Given the description of an element on the screen output the (x, y) to click on. 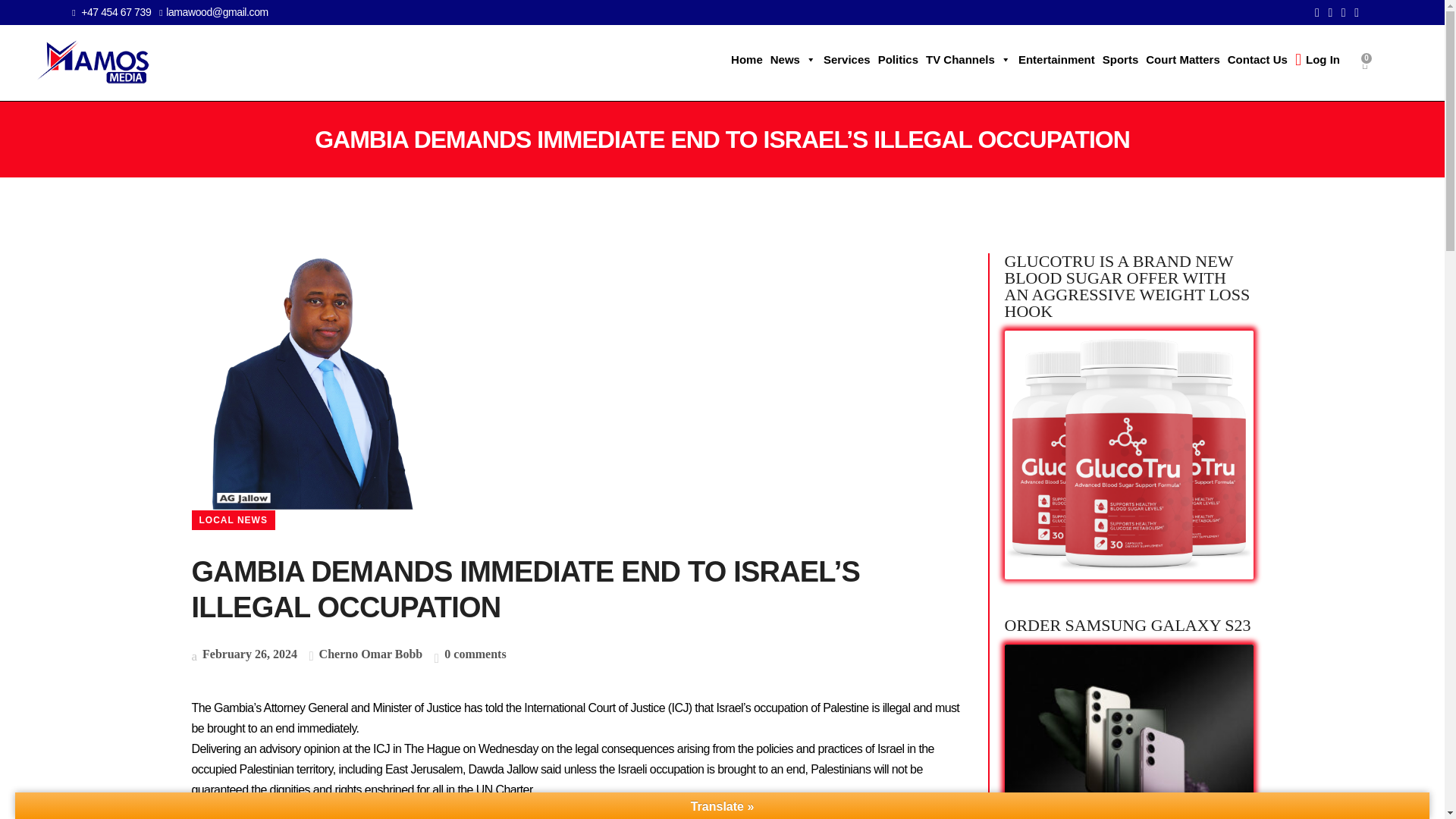
Log In (1317, 60)
TV Channels (967, 60)
Contact Us (1257, 60)
Politics (898, 60)
News (793, 60)
Entertainment (1056, 60)
Court Matters (1182, 60)
Services (847, 60)
Sports (1120, 60)
Home (746, 60)
